Given the description of an element on the screen output the (x, y) to click on. 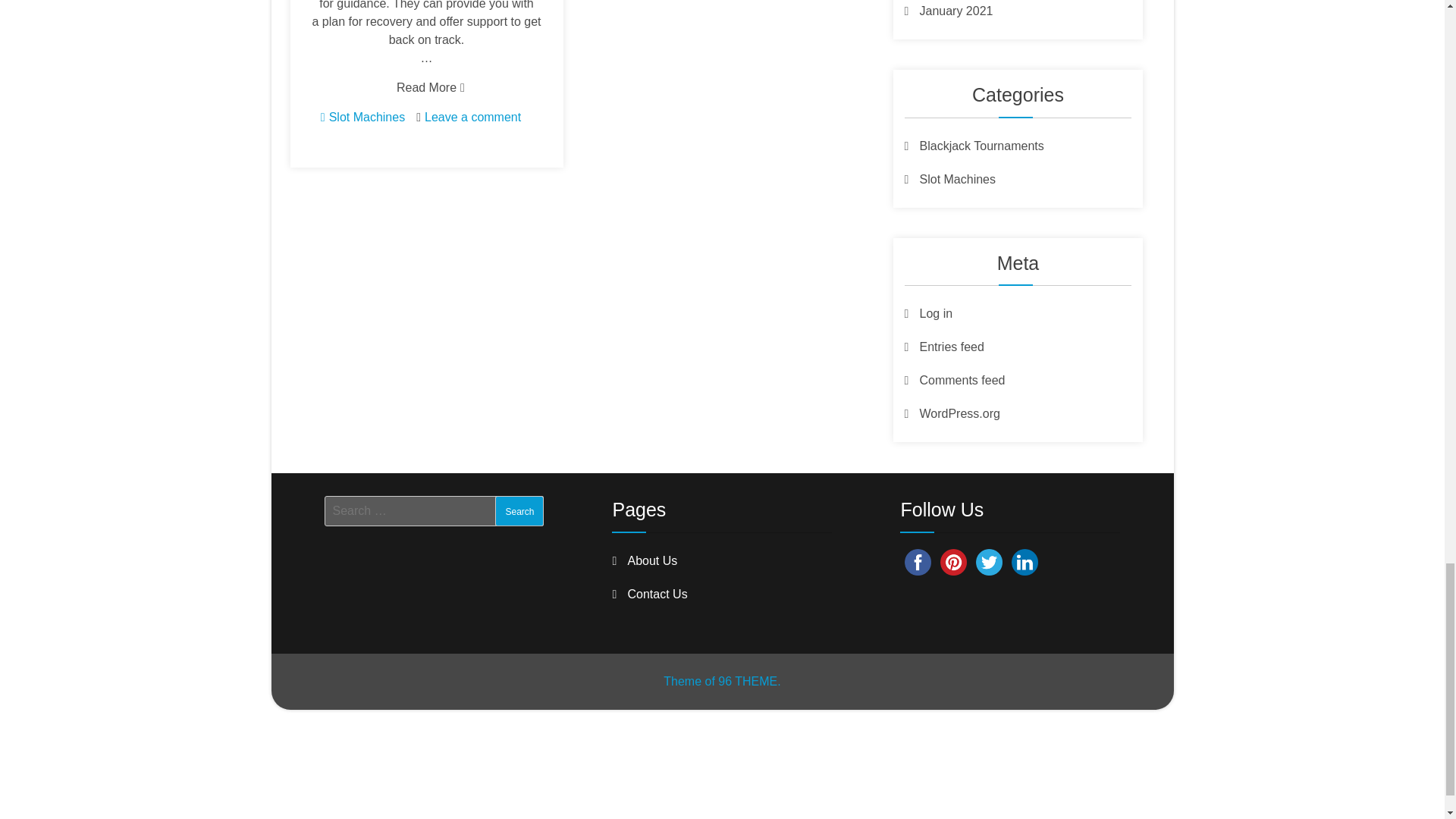
Search (519, 511)
Comments feed (954, 379)
January 2021 (948, 10)
Search (519, 511)
Facebook (917, 561)
Blackjack Tournaments (973, 144)
Leave a comment (473, 116)
Slot Machines (949, 178)
Slot Machines (367, 116)
Read More (426, 87)
WordPress.org (951, 413)
Log in (928, 313)
LinkedIn (1024, 561)
Twitter (989, 561)
Pinterest (953, 561)
